Given the description of an element on the screen output the (x, y) to click on. 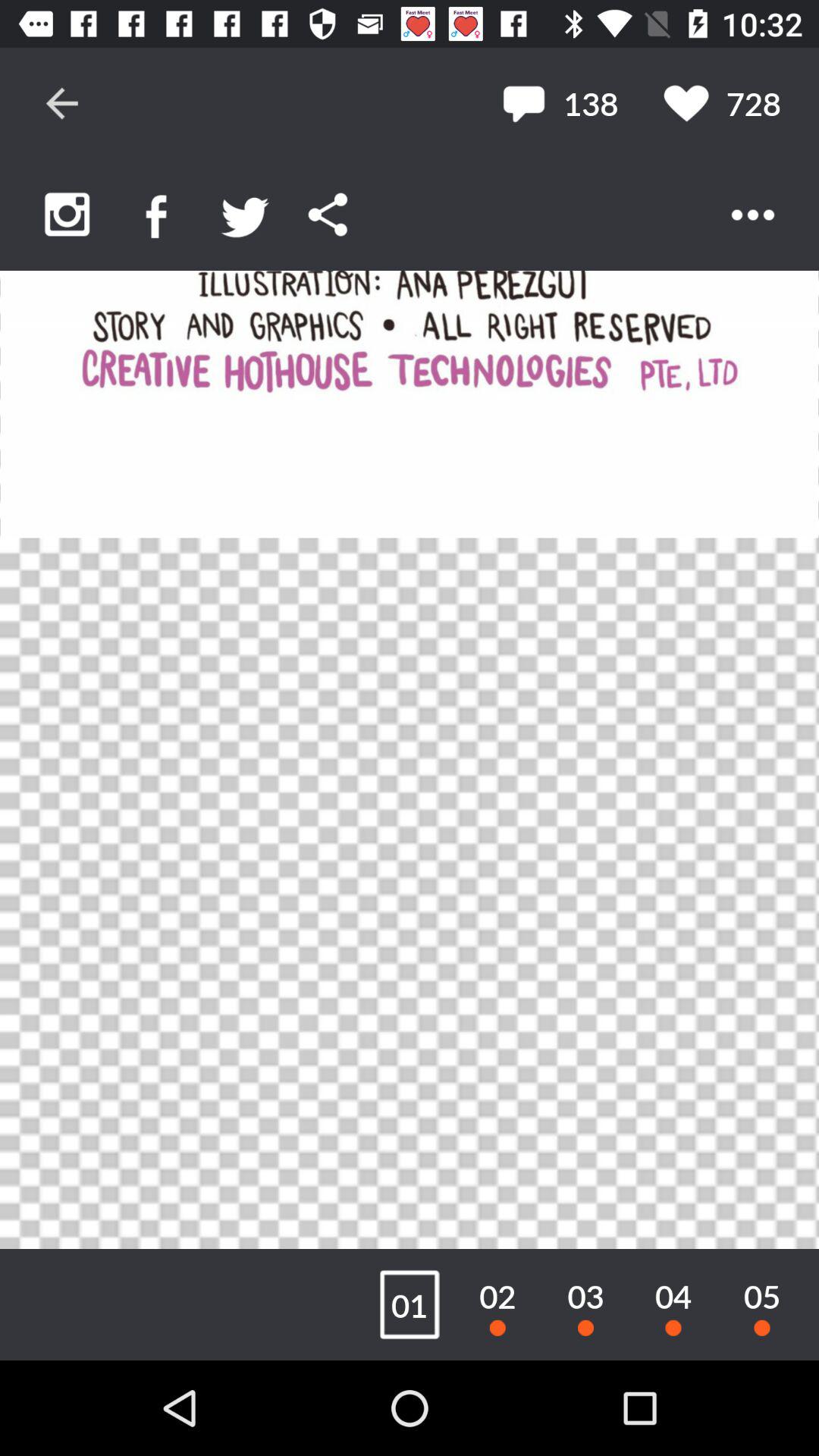
share (327, 214)
